Given the description of an element on the screen output the (x, y) to click on. 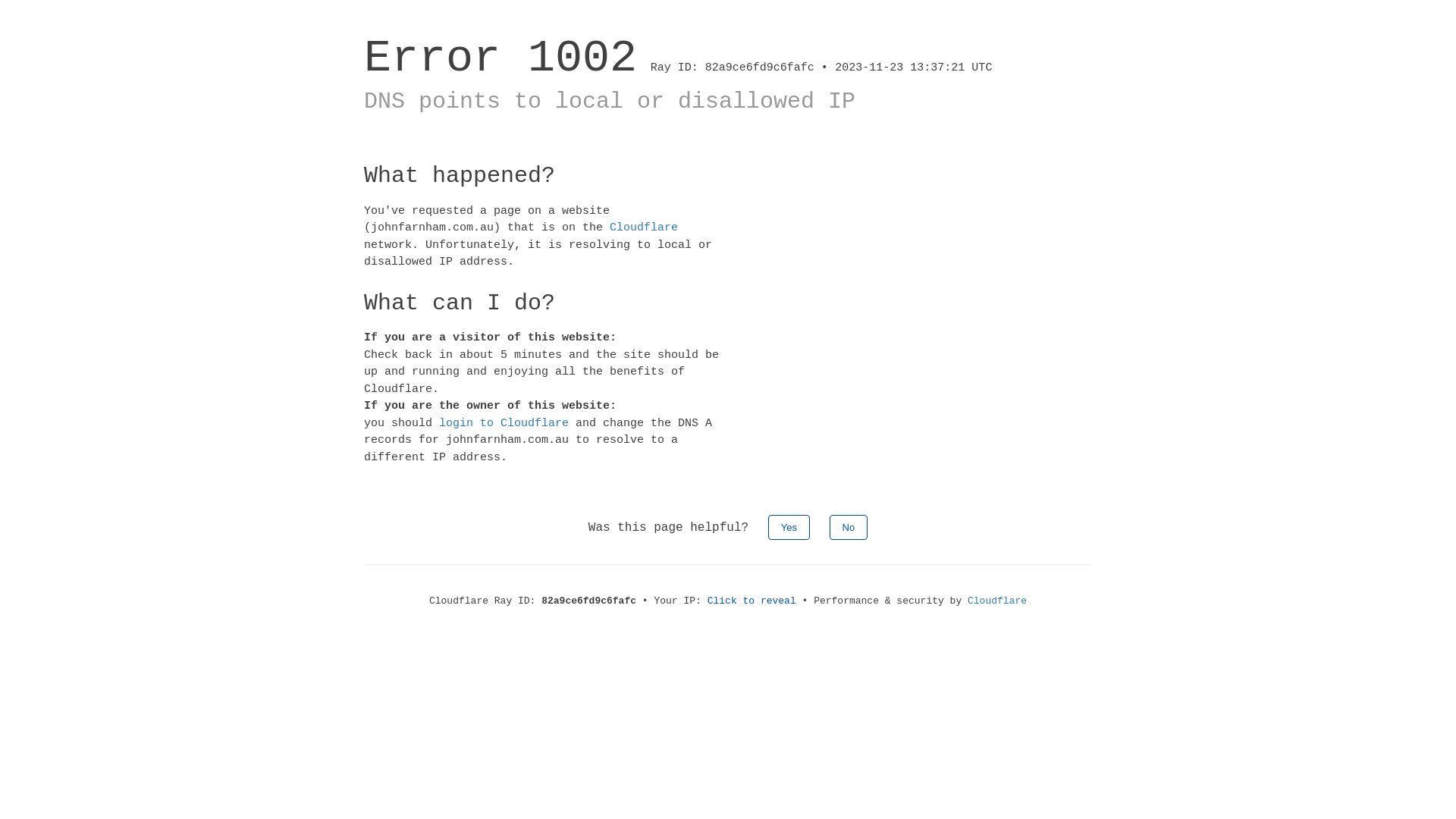
Yes Element type: text (788, 526)
login to Cloudflare Element type: text (503, 423)
No Element type: text (848, 526)
Cloudflare Element type: text (643, 227)
Cloudflare Element type: text (996, 600)
Click to reveal Element type: text (751, 600)
